Given the description of an element on the screen output the (x, y) to click on. 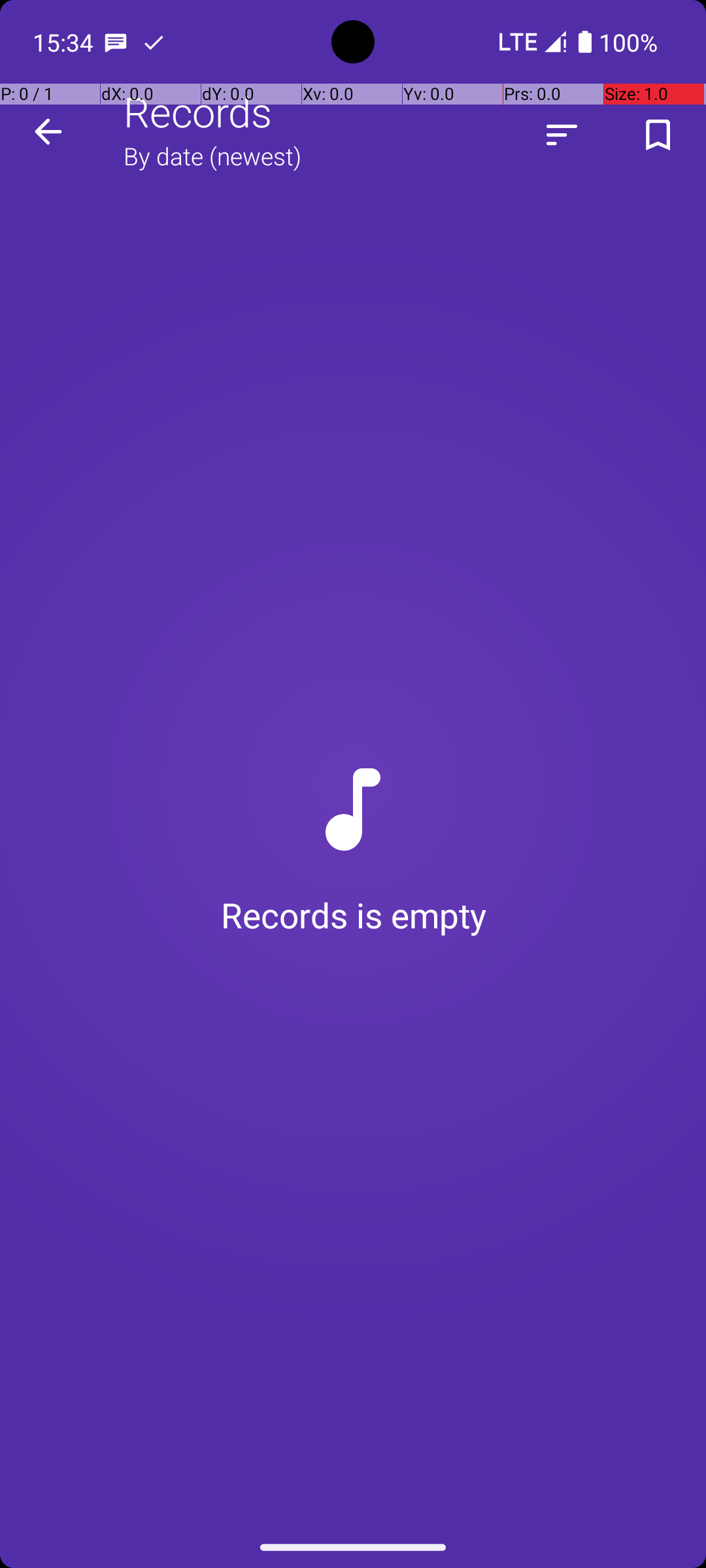
Records Element type: android.widget.TextView (198, 111)
By date (newest) Element type: android.widget.TextView (212, 155)
Records is empty Element type: android.widget.TextView (352, 846)
SMS Messenger notification: Daniel Ali Element type: android.widget.ImageView (115, 41)
Contacts notification: Finished exporting contacts.vcf. Element type: android.widget.ImageView (153, 41)
